Given the description of an element on the screen output the (x, y) to click on. 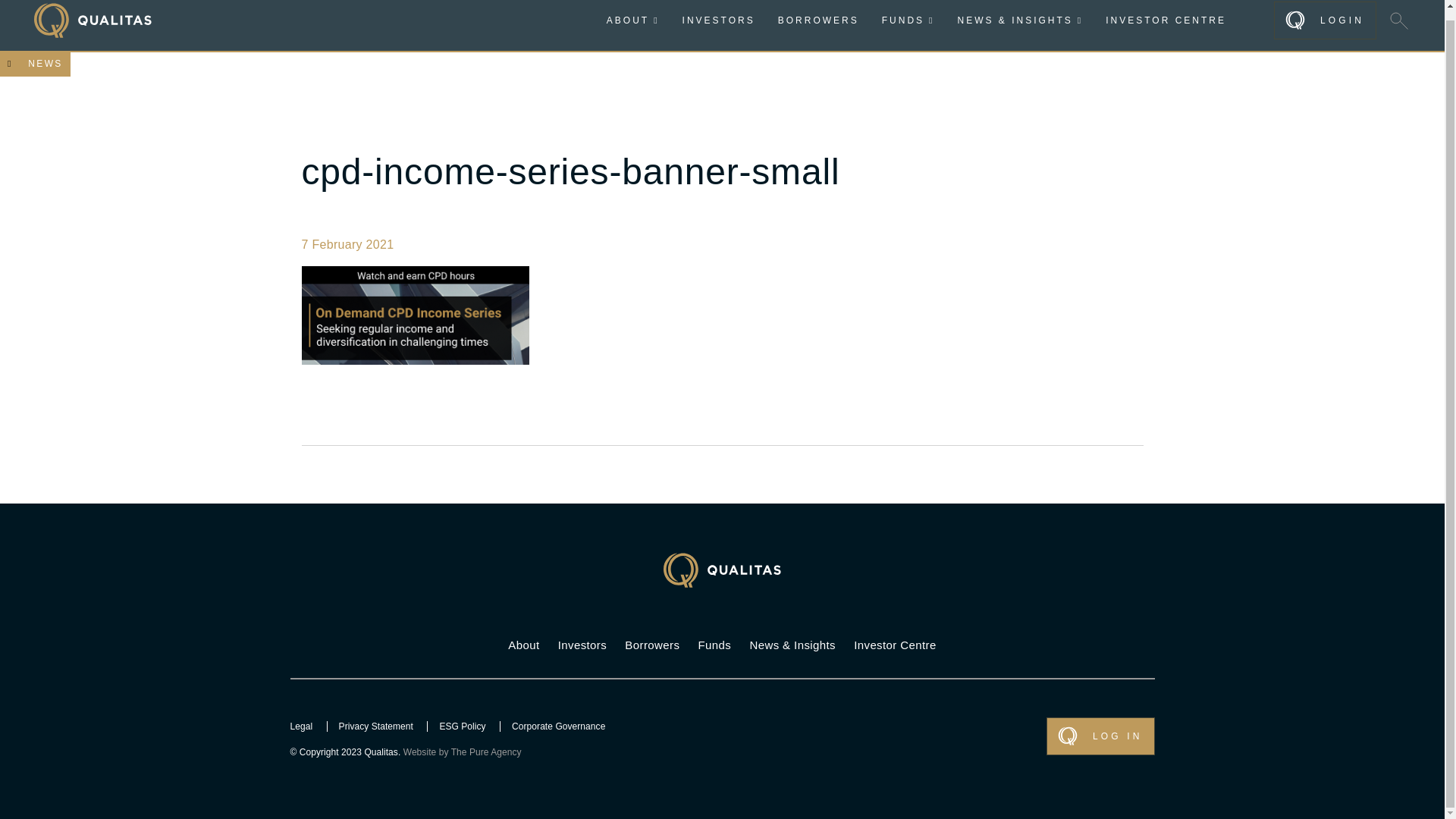
ABOUT (633, 20)
INVESTOR CENTRE (1165, 20)
LOGIN (1324, 20)
BORROWERS (818, 20)
NEWS (34, 63)
INVESTORS (718, 20)
FUNDS (908, 20)
